Given the description of an element on the screen output the (x, y) to click on. 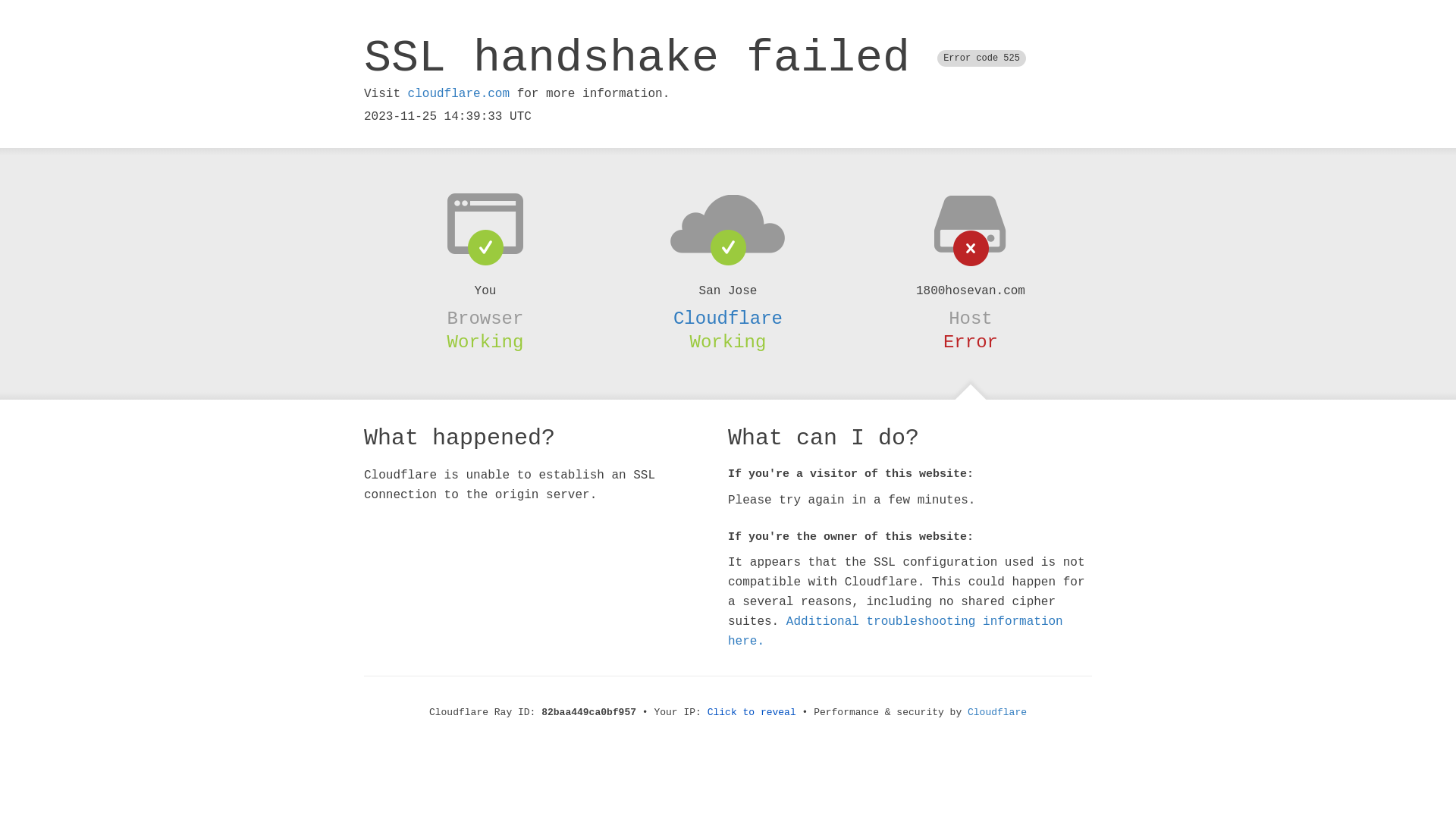
Additional troubleshooting information here. Element type: text (895, 631)
cloudflare.com Element type: text (458, 93)
Click to reveal Element type: text (751, 712)
Cloudflare Element type: text (996, 712)
Cloudflare Element type: text (727, 318)
